Given the description of an element on the screen output the (x, y) to click on. 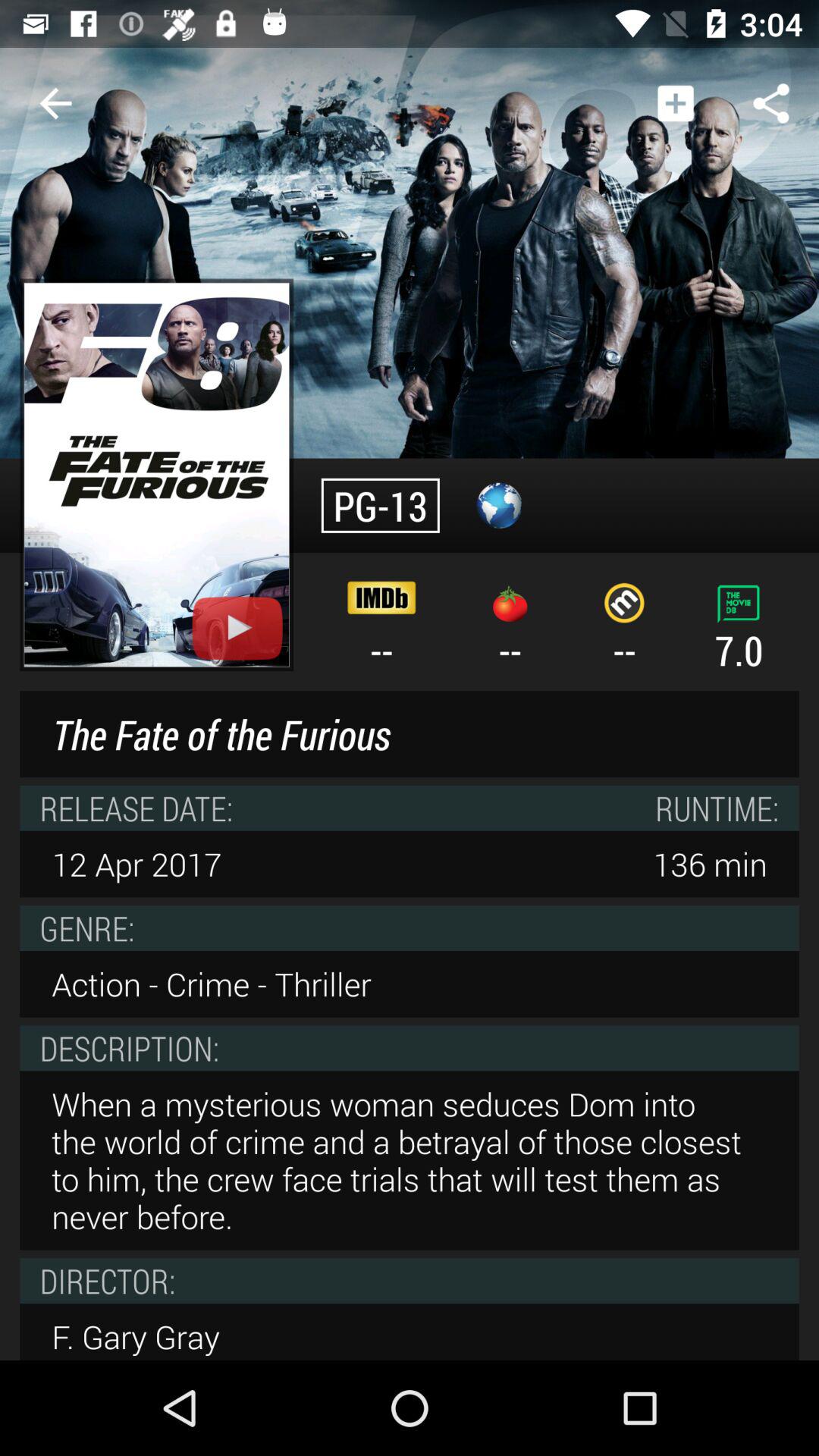
search the world wide web (499, 505)
